Given the description of an element on the screen output the (x, y) to click on. 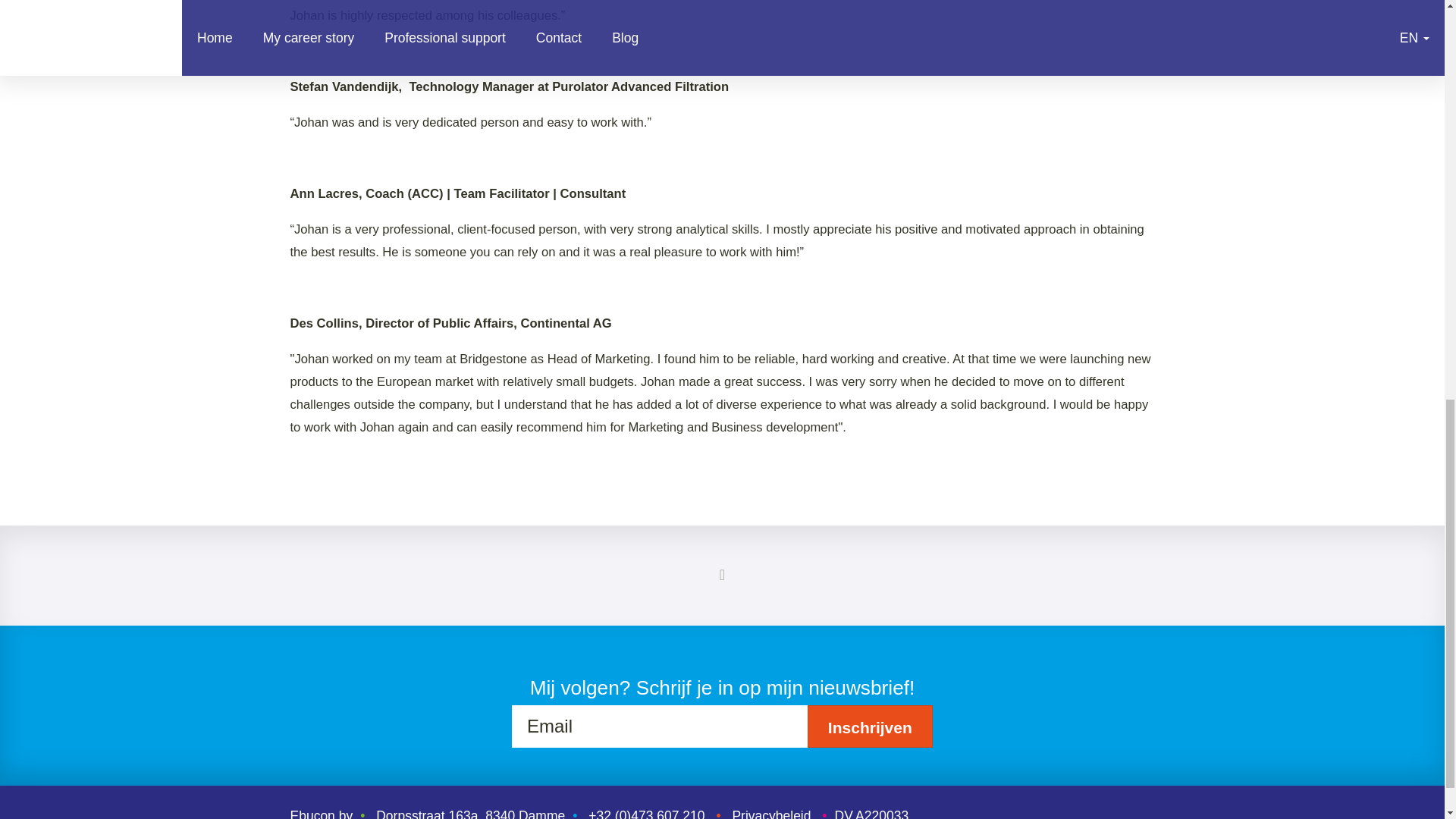
Privacybeleid (771, 813)
Inschrijven (870, 726)
blog (721, 574)
